Given the description of an element on the screen output the (x, y) to click on. 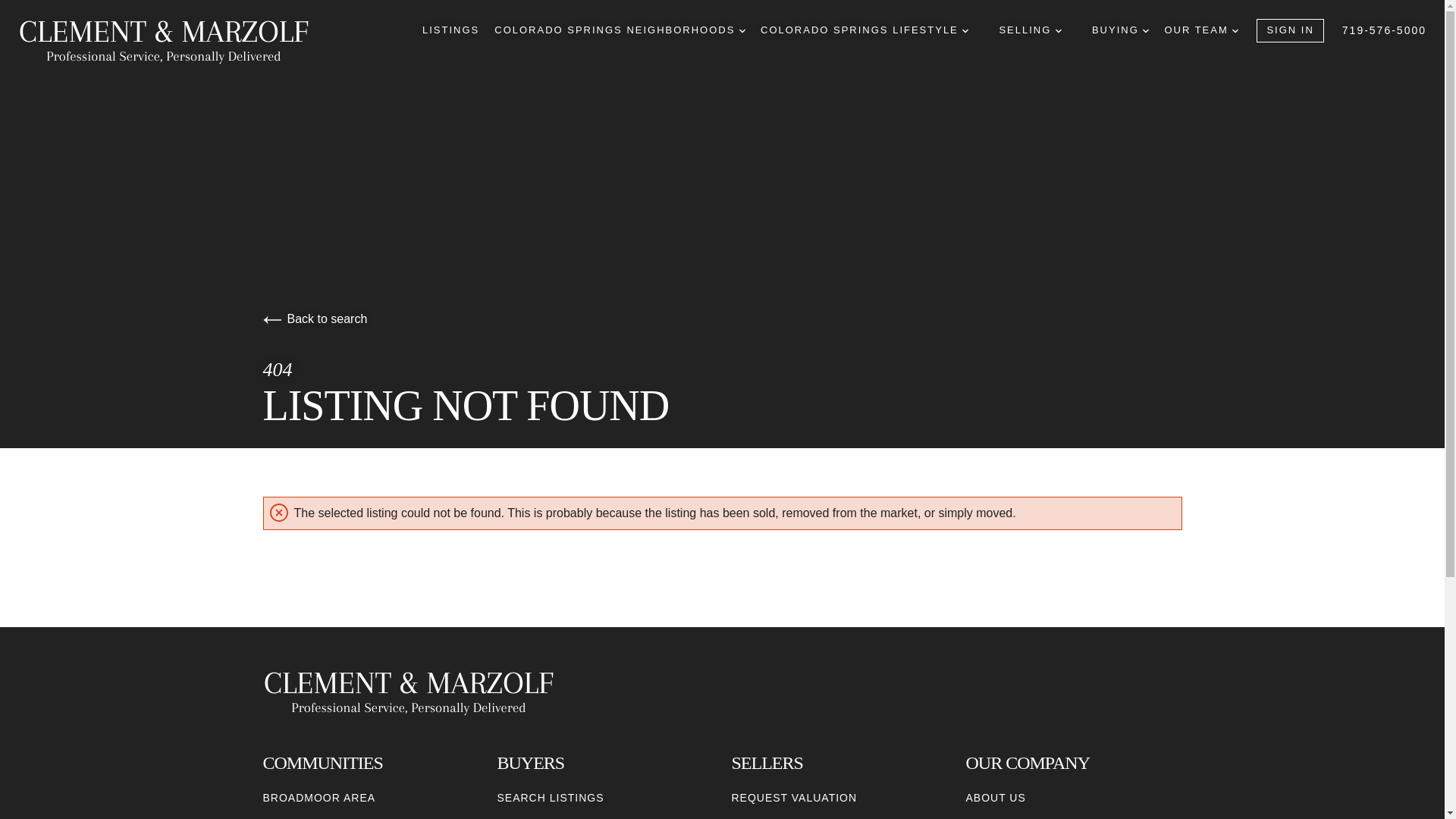
BUYING DROPDOWN ARROW (1120, 30)
SELLING DROPDOWN ARROW (1029, 30)
DROPDOWN ARROW (1058, 30)
DROPDOWN ARROW (742, 30)
COLORADO SPRINGS NEIGHBORHOODS DROPDOWN ARROW (620, 30)
DROPDOWN ARROW (1145, 30)
LISTINGS (450, 30)
OUR TEAM DROPDOWN ARROW (1201, 30)
DROPDOWN ARROW (1235, 30)
DROPDOWN ARROW (965, 30)
